Given the description of an element on the screen output the (x, y) to click on. 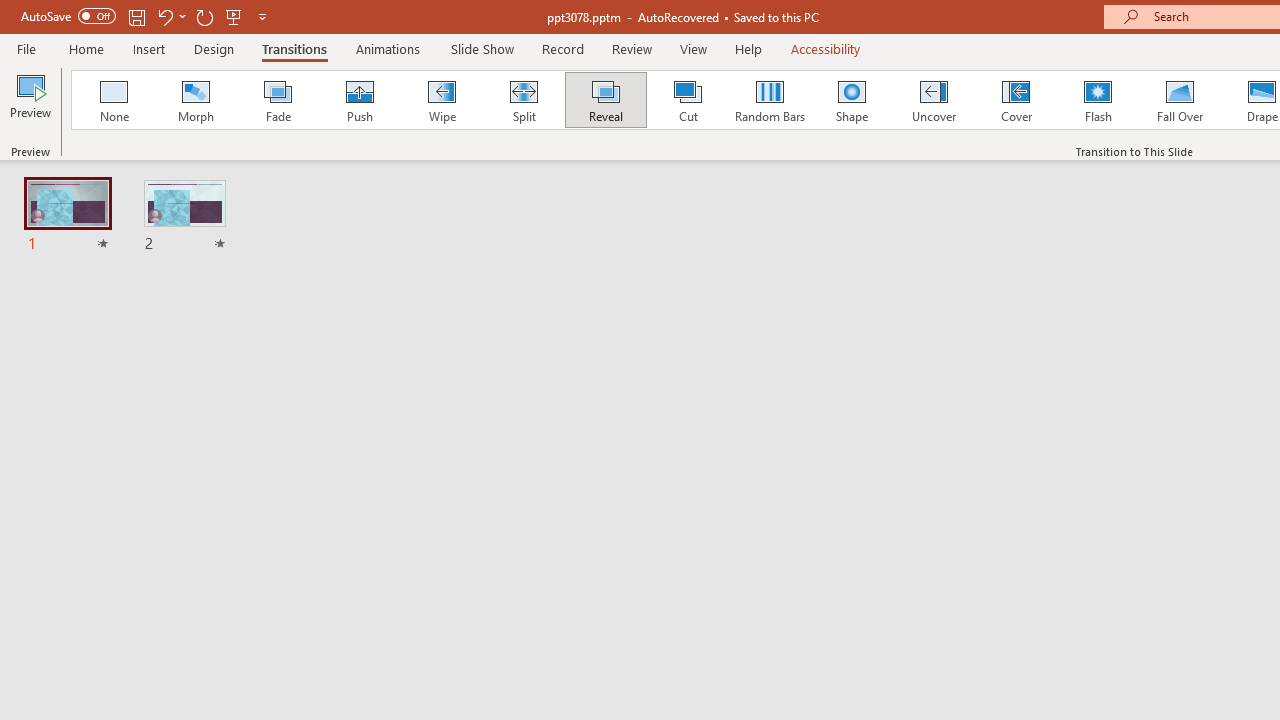
Morph (195, 100)
Fall Over (1180, 100)
